Given the description of an element on the screen output the (x, y) to click on. 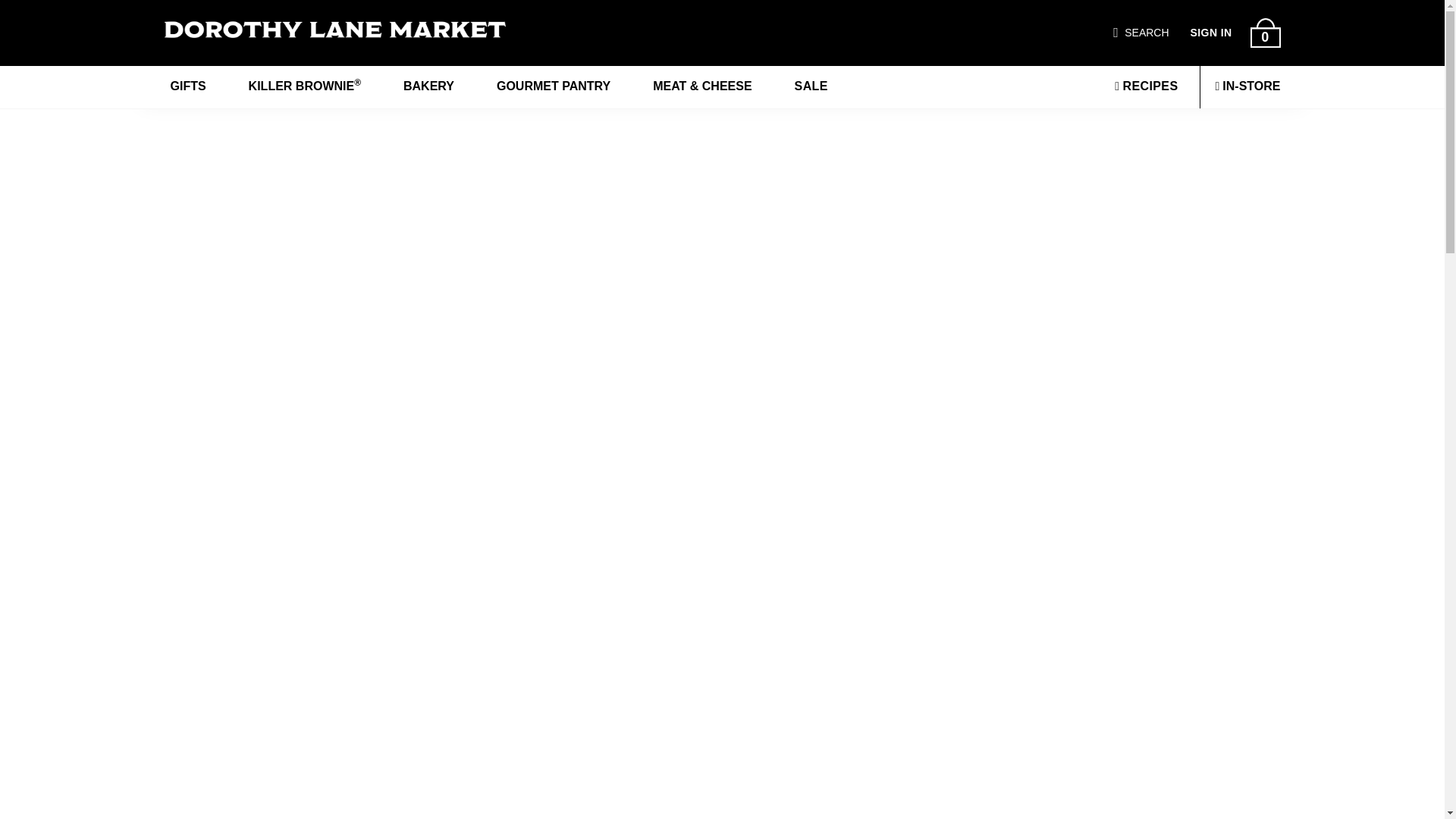
SIGN IN (1211, 32)
GOURMET PANTRY (552, 87)
BAKERY (428, 87)
GIFTS (187, 87)
IN-STORE (1246, 87)
RECIPES (1145, 87)
SEARCH (1146, 32)
0 (1264, 32)
SALE (811, 87)
